Given the description of an element on the screen output the (x, y) to click on. 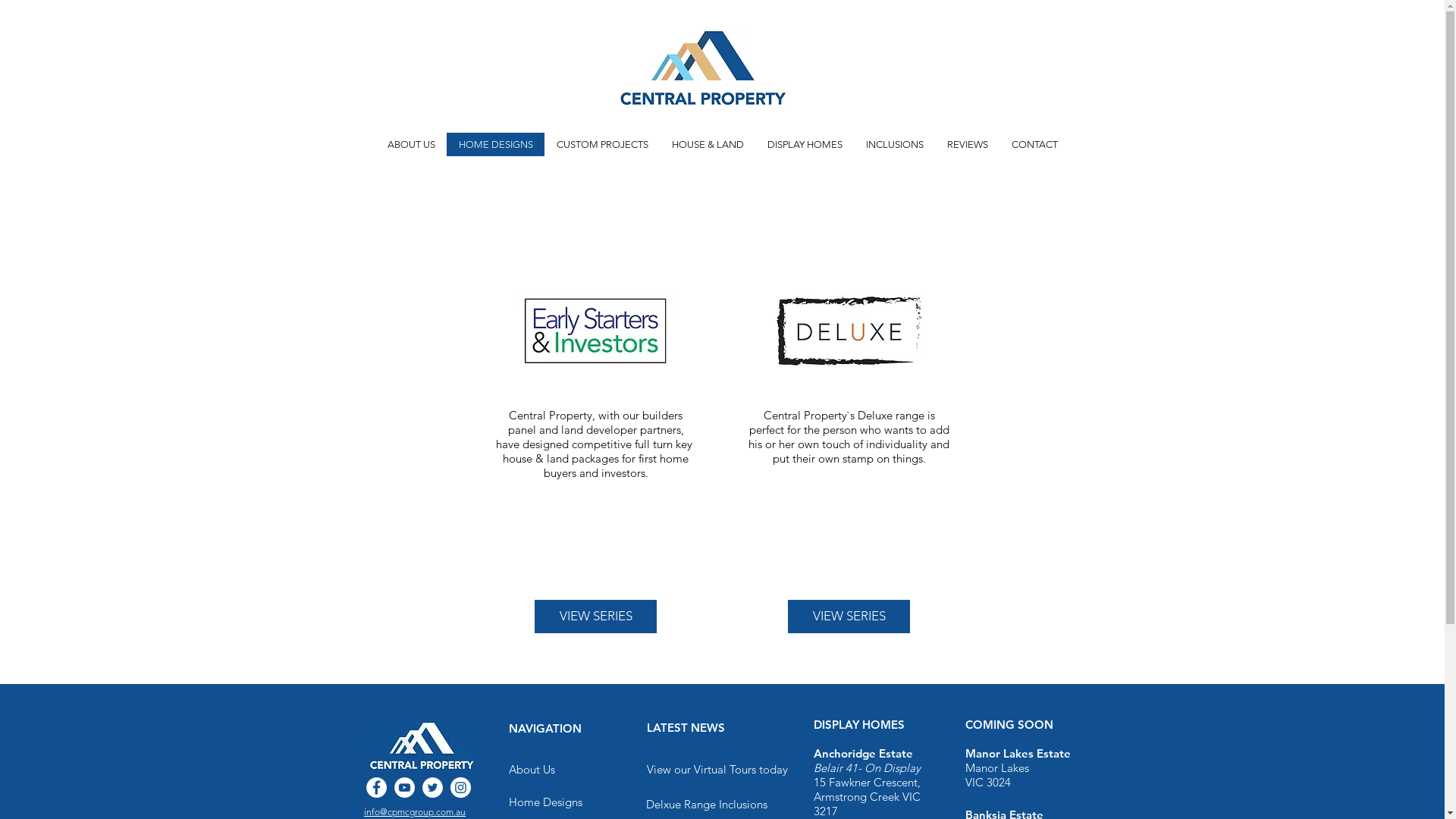
View our Element type: text (669, 768)
CUSTOM PROJECTS Element type: text (601, 144)
info@cpmcgroup.com.au Element type: text (414, 811)
CONTACT Element type: text (1034, 144)
Home Designs Element type: text (544, 801)
INCLUSIONS Element type: text (894, 144)
ABOUT US Element type: text (410, 144)
HOME DESIGNS Element type: text (495, 144)
VIEW SERIES Element type: text (595, 616)
HOUSE & LAND Element type: text (707, 144)
About Us Element type: text (531, 768)
REVIEWS Element type: text (967, 144)
Virtual Tours today Element type: text (740, 768)
DISPLAY HOMES Element type: text (804, 144)
VIEW SERIES Element type: text (848, 616)
